Given the description of an element on the screen output the (x, y) to click on. 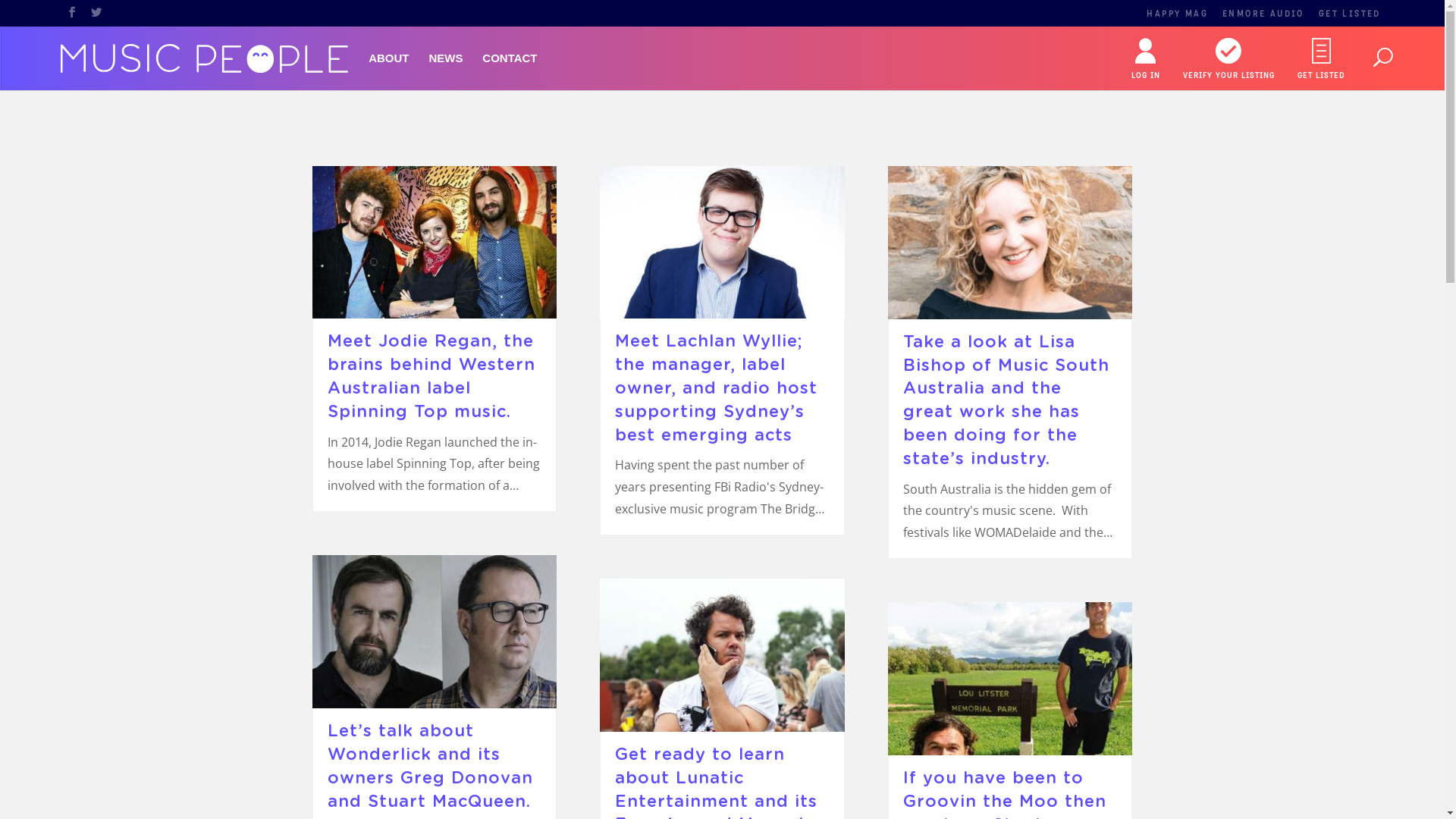
HAPPY MAG Element type: text (1177, 13)
ENMORE AUDIO Element type: text (1263, 13)
VERIFY YOUR LISTING Element type: text (1228, 58)
CONTACT Element type: text (509, 71)
NEWS Element type: text (445, 71)
GET LISTED Element type: text (1321, 58)
LOG IN Element type: text (1145, 58)
GET LISTED Element type: text (1349, 13)
ABOUT Element type: text (388, 71)
